Given the description of an element on the screen output the (x, y) to click on. 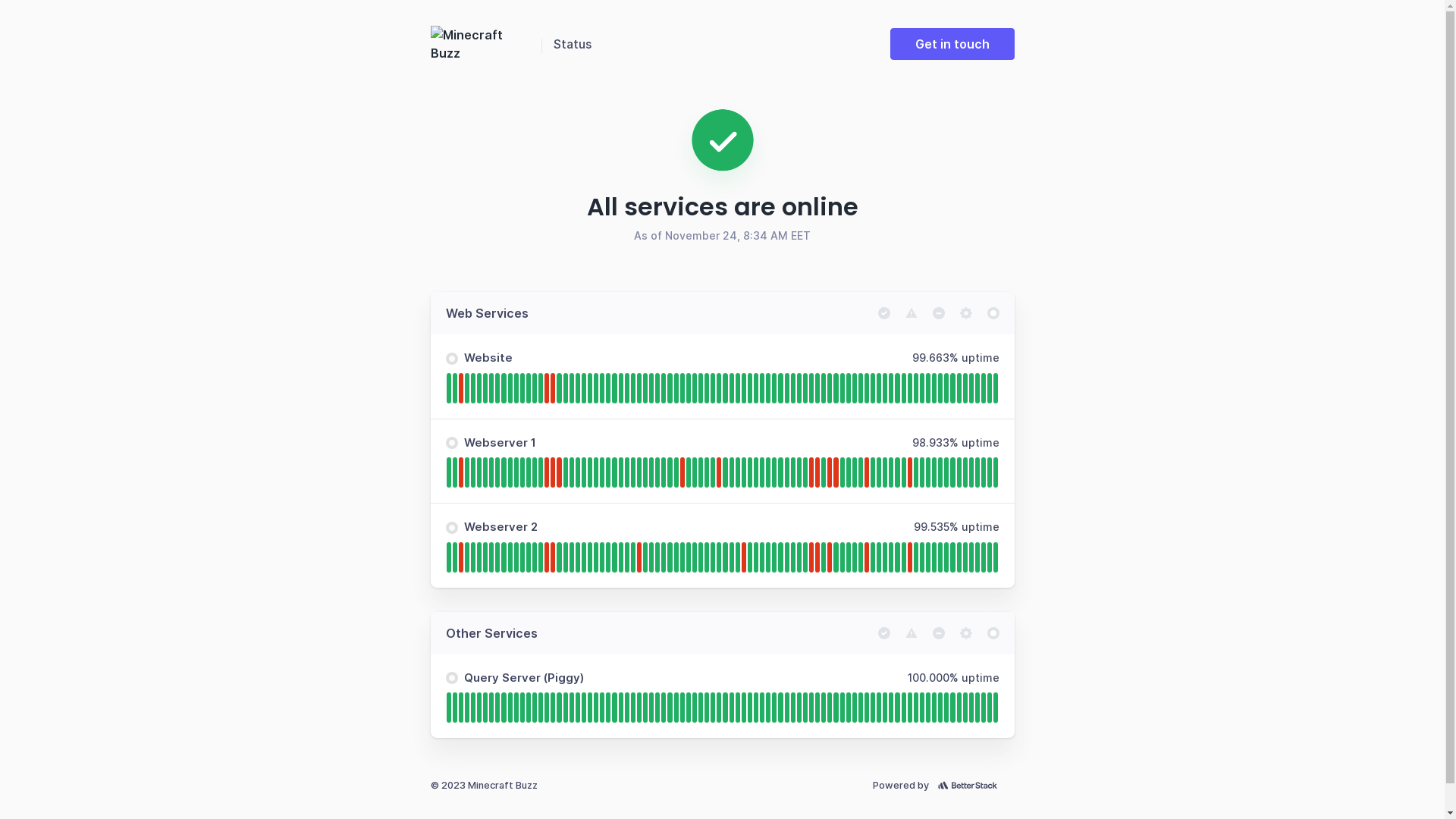
Better Stack Element type: text (970, 785)
Status Element type: text (572, 43)
Get in touch Element type: text (952, 43)
